Given the description of an element on the screen output the (x, y) to click on. 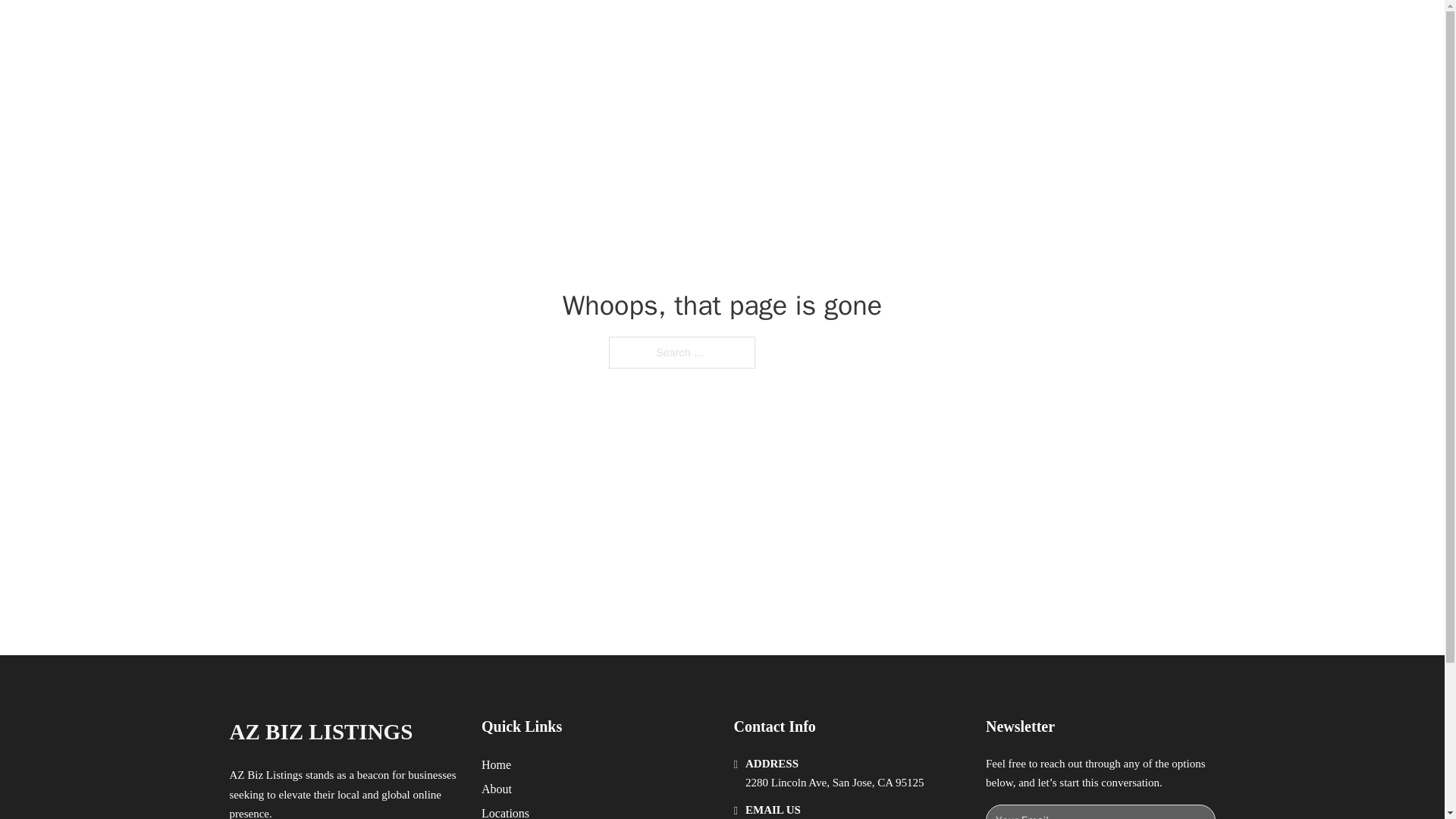
HOME (919, 29)
LOCATIONS (990, 29)
About (496, 788)
Home (496, 764)
Locations (505, 811)
AZ BIZ LISTINGS (393, 28)
AZ BIZ LISTINGS (320, 732)
